Given the description of an element on the screen output the (x, y) to click on. 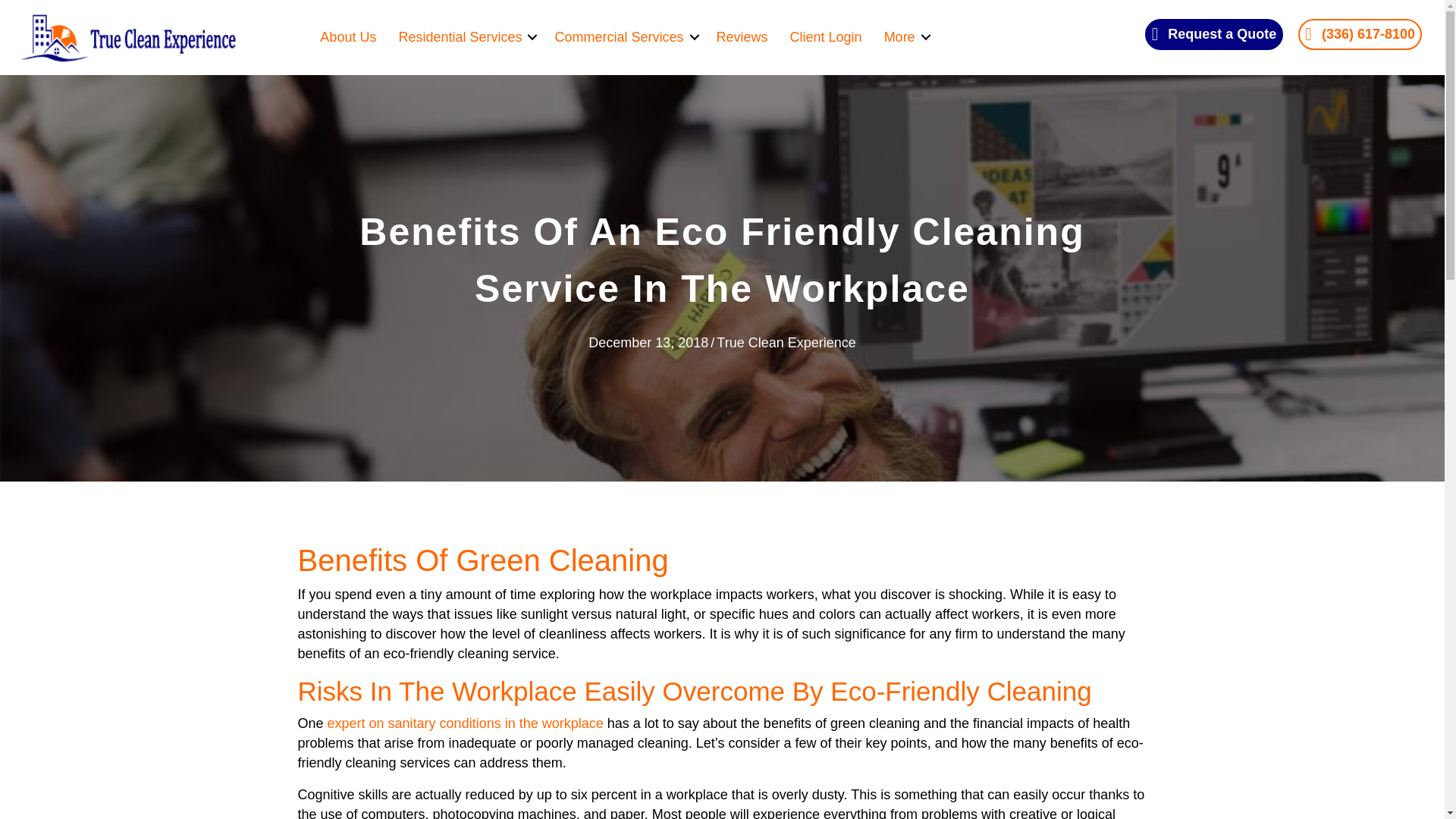
Request a Quote (1214, 33)
Residential Services (465, 36)
Client Login (825, 36)
Commercial Services (623, 36)
More (904, 36)
About Us (347, 36)
expert on sanitary conditions in the workplace (465, 723)
Reviews (742, 36)
True Clean Experience (786, 342)
